Given the description of an element on the screen output the (x, y) to click on. 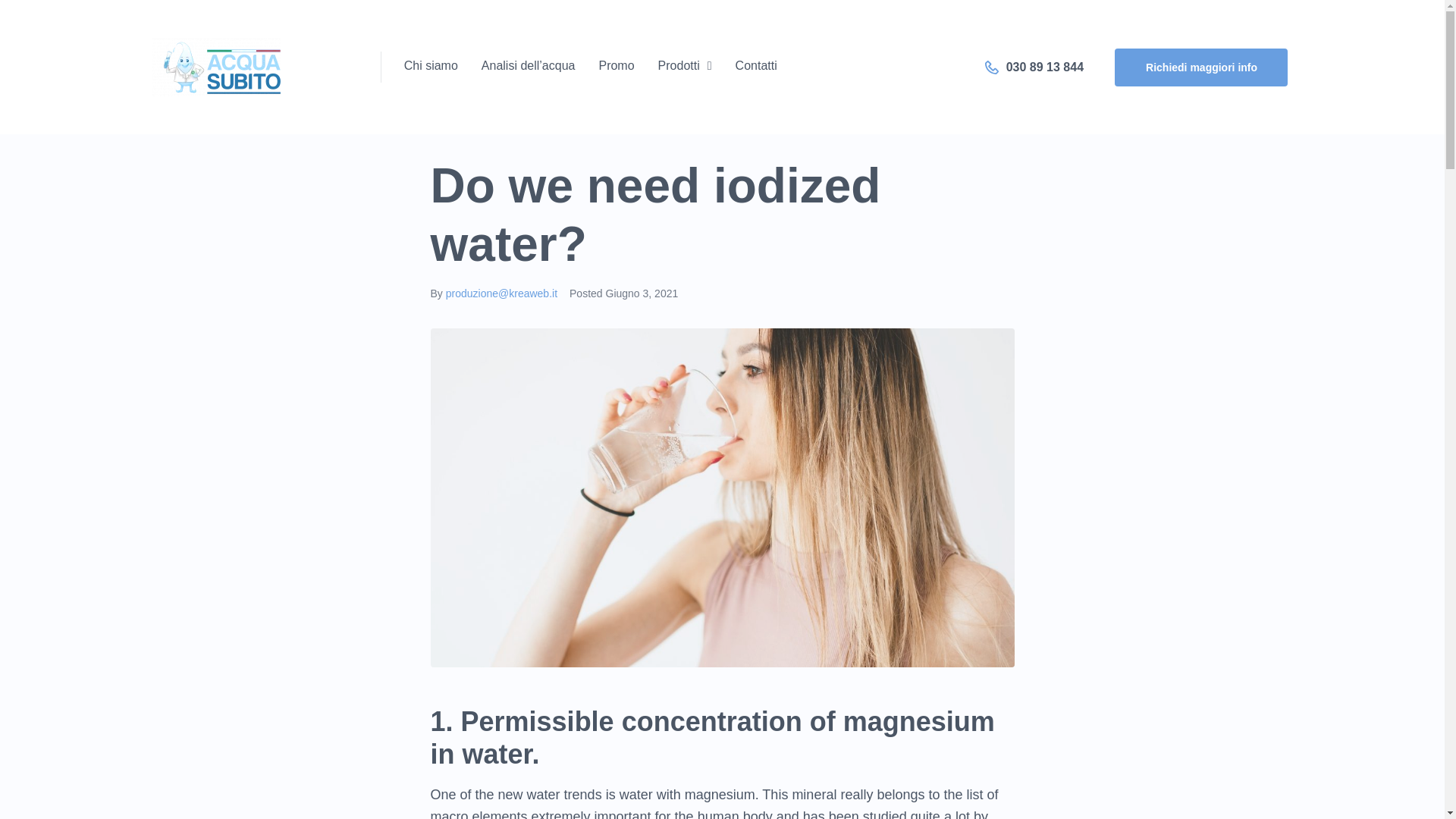
Chi siamo (431, 66)
Richiedi maggiori info (1201, 67)
Promo (615, 66)
030 89 13 844 (1034, 66)
Contatti (756, 66)
Prodotti (684, 66)
